Given the description of an element on the screen output the (x, y) to click on. 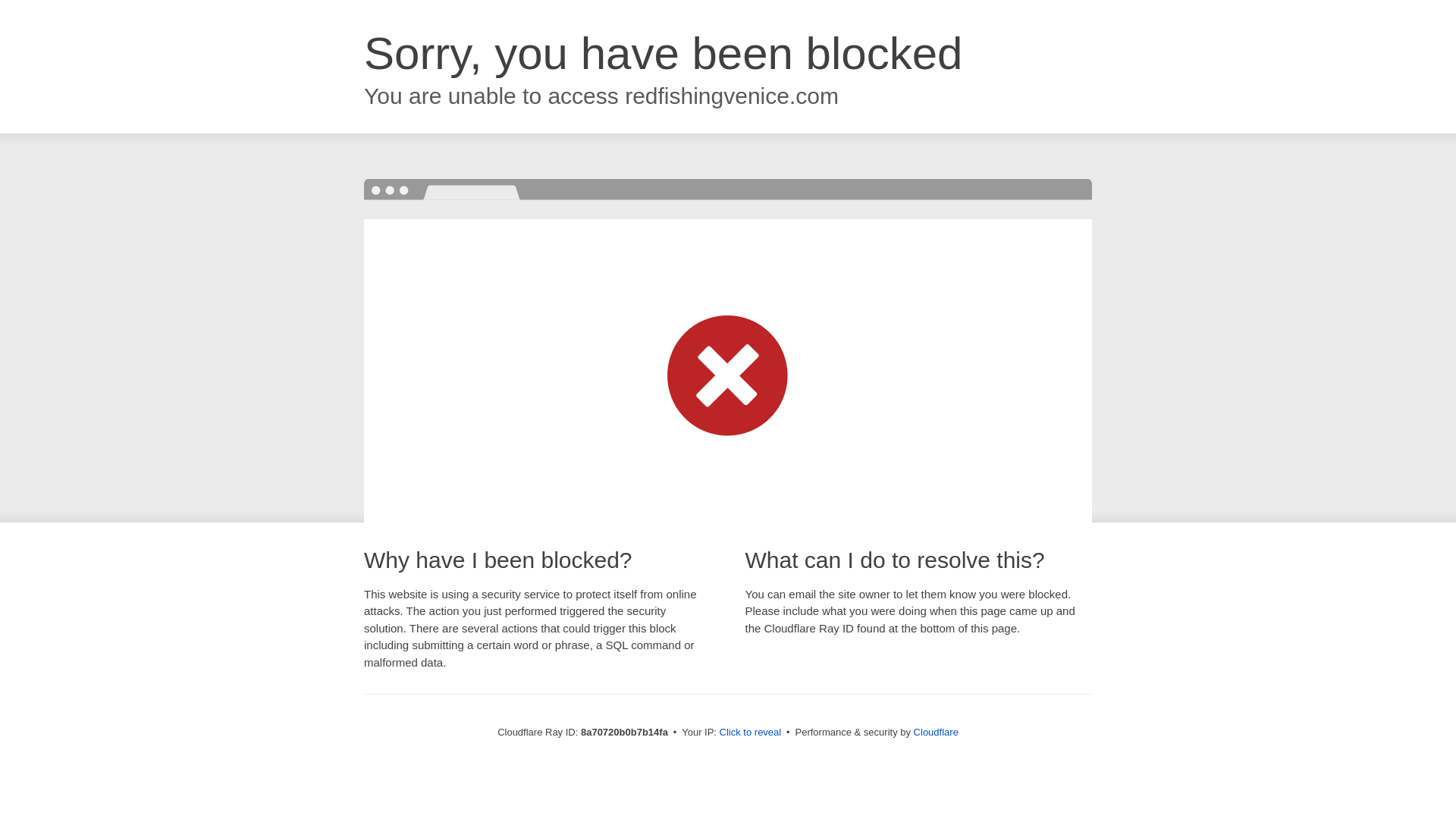
Cloudflare (936, 731)
Click to reveal (750, 732)
